Given the description of an element on the screen output the (x, y) to click on. 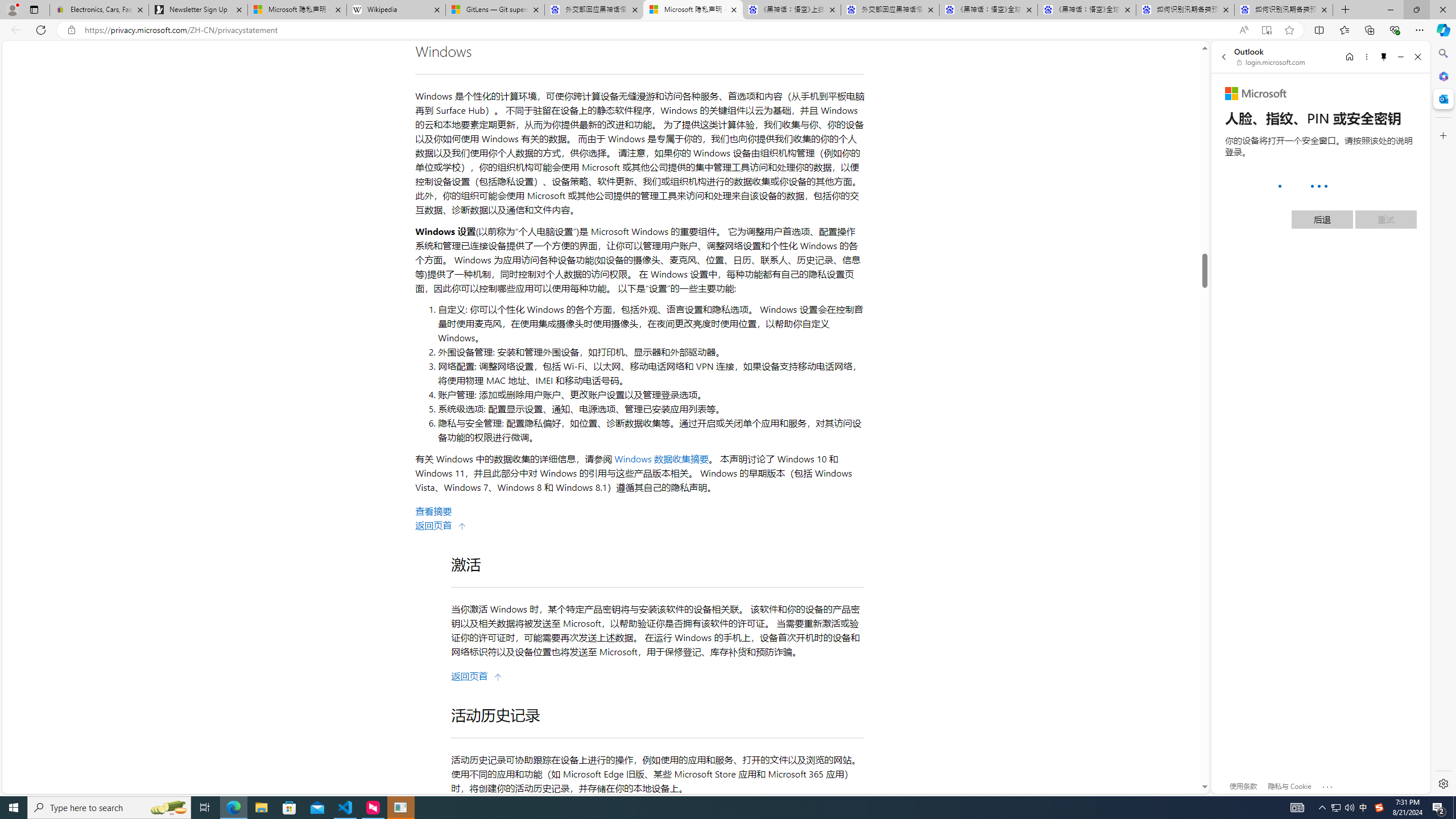
Newsletter Sign Up (197, 9)
